Given the description of an element on the screen output the (x, y) to click on. 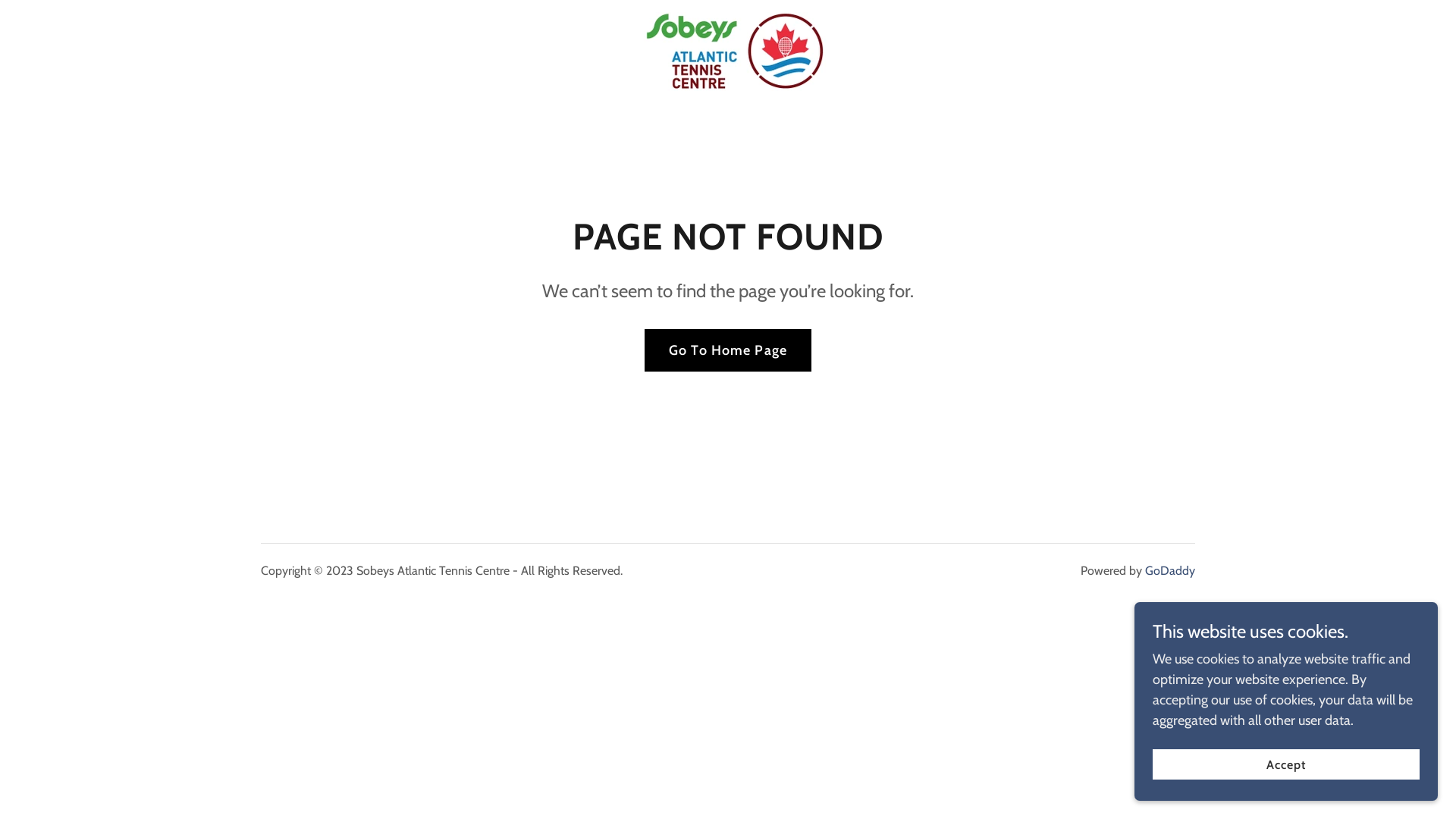
Go To Home Page Element type: text (727, 350)
Accept Element type: text (1285, 764)
Sobeys Atlantic Tennis Centre
Temporary Site Element type: hover (727, 49)
GoDaddy Element type: text (1170, 570)
